Given the description of an element on the screen output the (x, y) to click on. 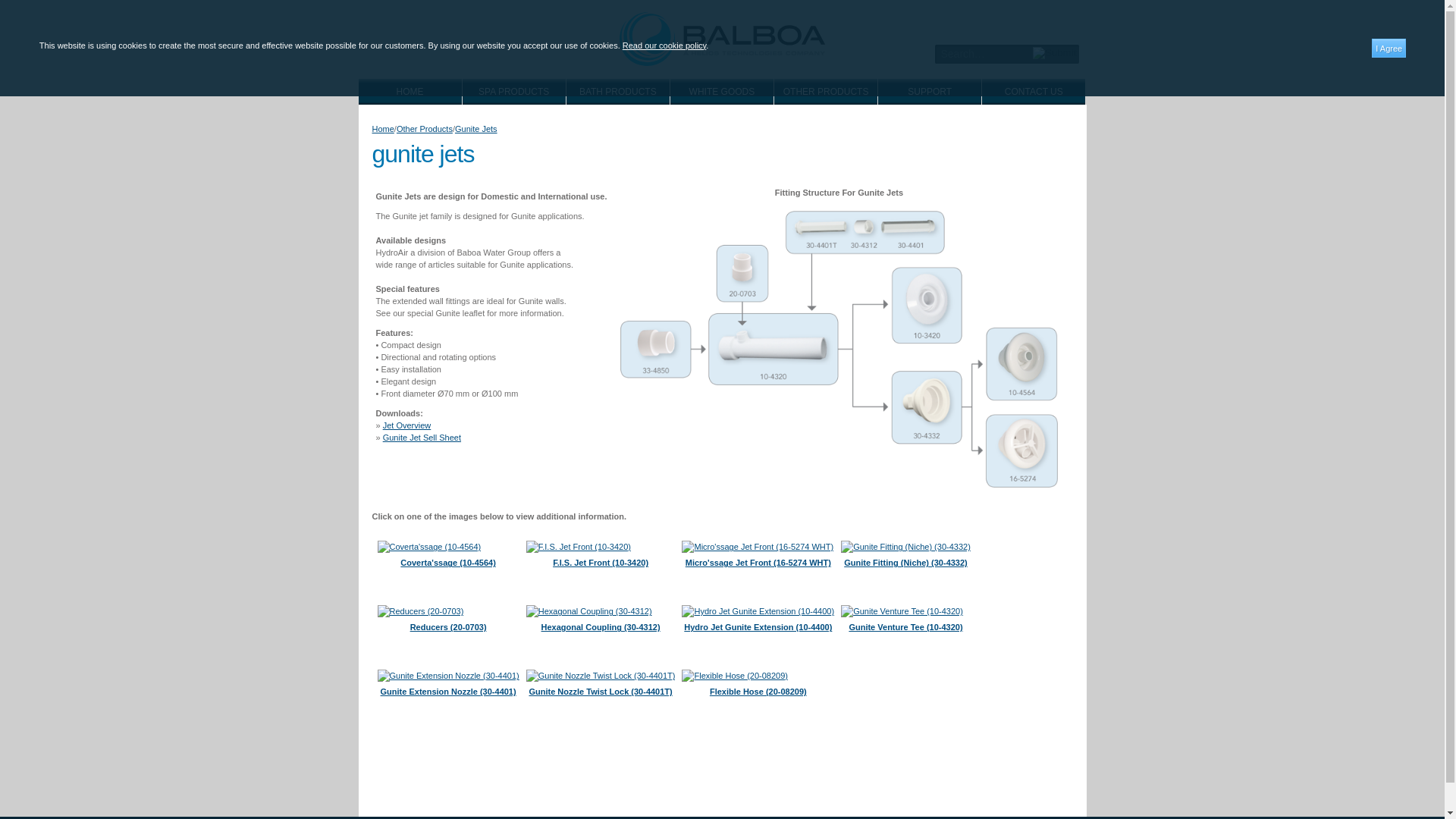
Follow us on LinkedIn (957, 18)
SPA PRODUCTS (514, 91)
Follow us on Facebook (1067, 18)
Follow us on Instagram (1039, 18)
Follow us on YouTube (1012, 18)
GuniteJetsAssembly (839, 348)
Follow us on Twitter (984, 18)
HOME (409, 91)
